Given the description of an element on the screen output the (x, y) to click on. 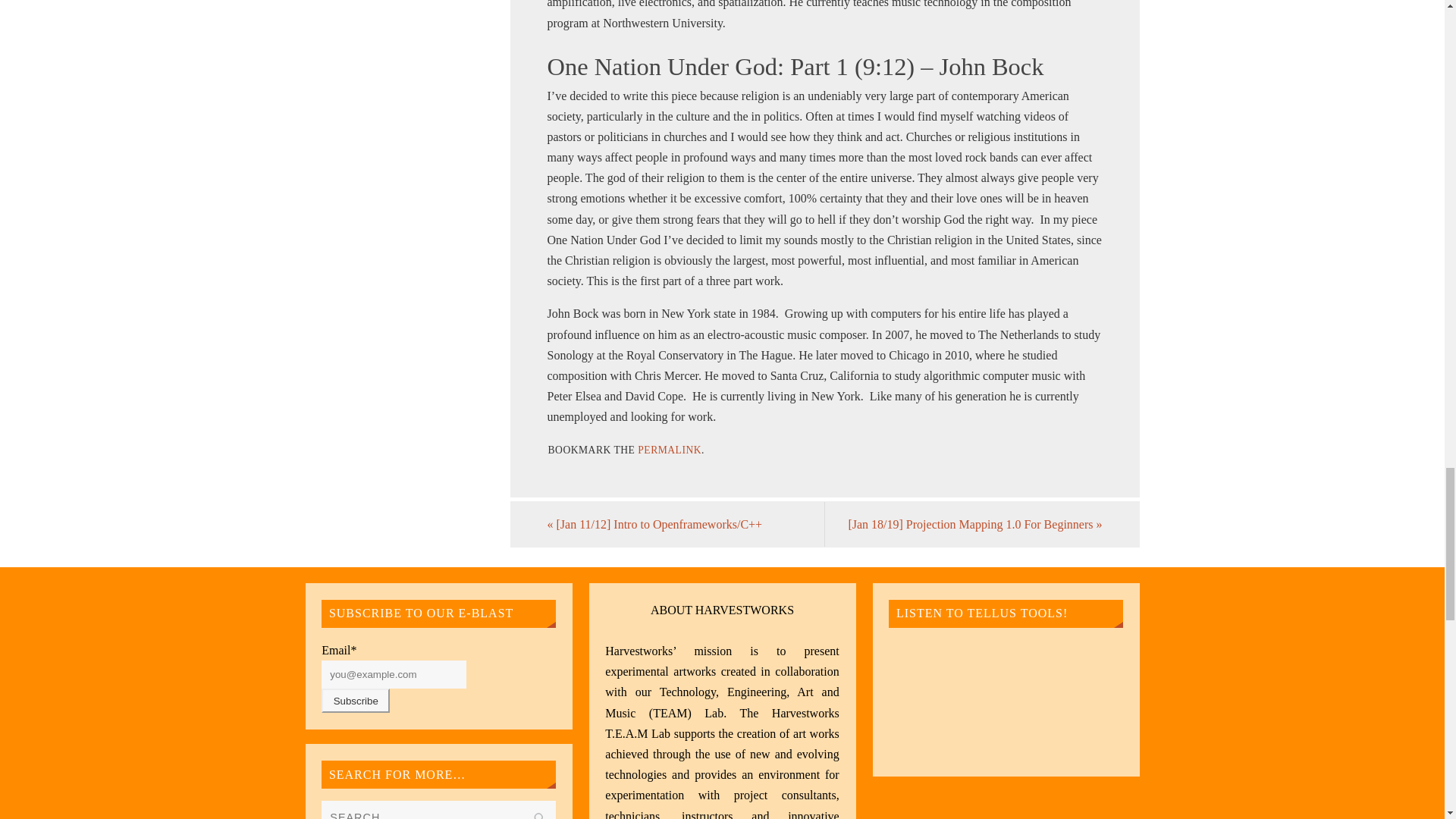
Subscribe (355, 700)
